Given the description of an element on the screen output the (x, y) to click on. 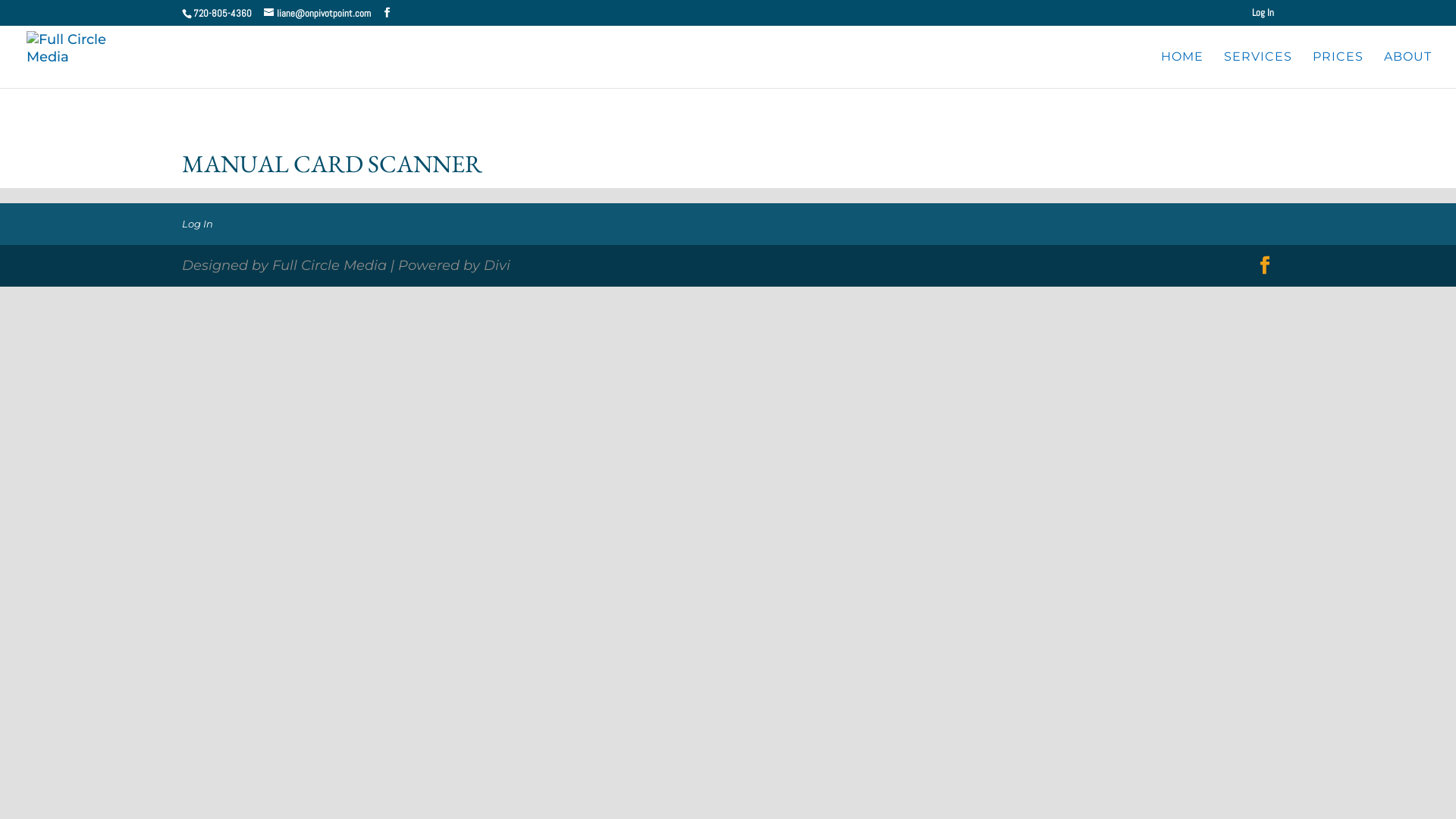
PRICES Element type: text (1337, 67)
Log In Element type: text (197, 223)
HOME Element type: text (1182, 67)
Log In Element type: text (1263, 16)
SERVICES Element type: text (1257, 67)
liane@onpivotpoint.com Element type: text (316, 12)
ABOUT Element type: text (1407, 67)
